Given the description of an element on the screen output the (x, y) to click on. 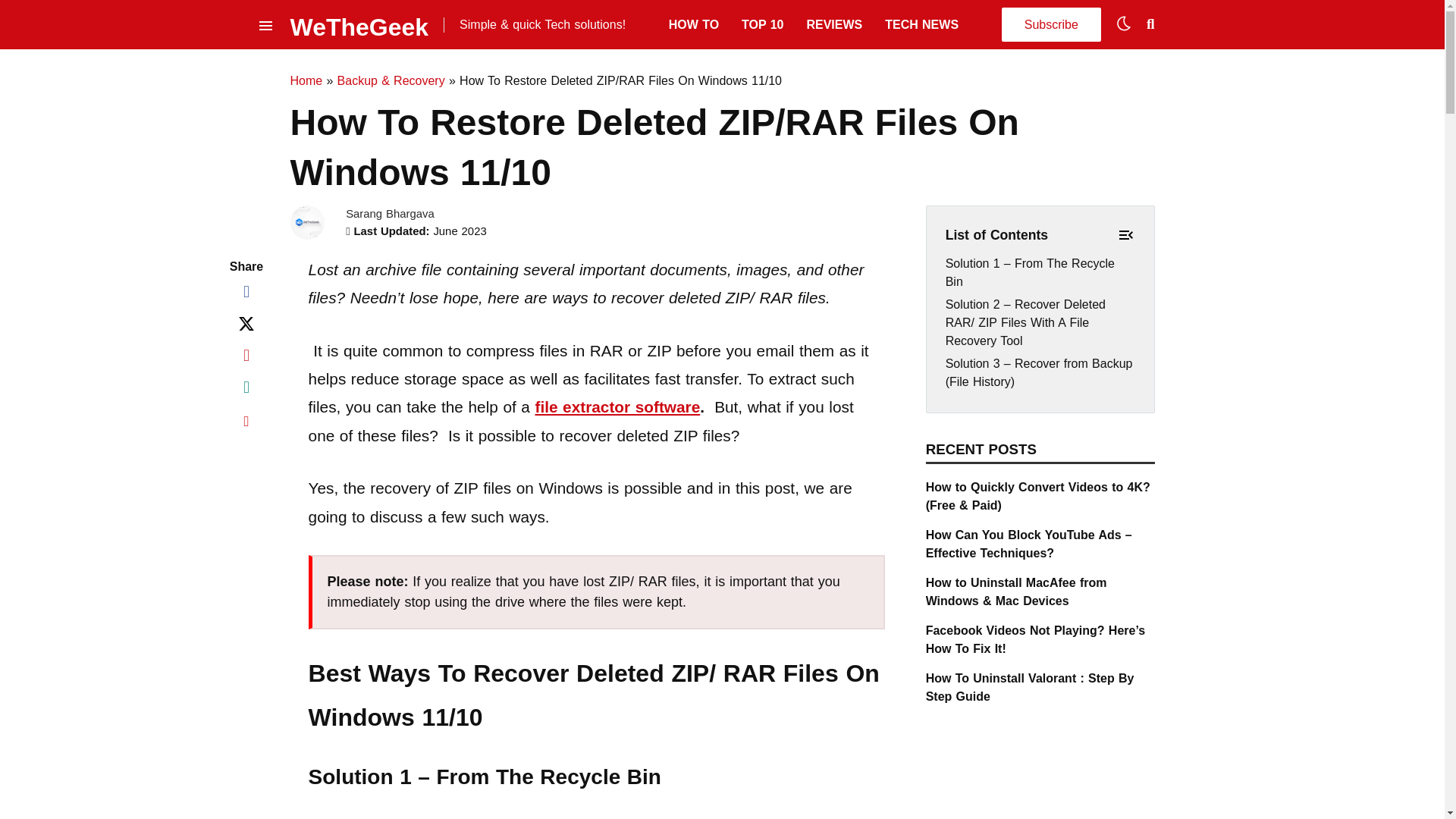
TOP 10 (762, 24)
REVIEWS (833, 24)
HOW TO (693, 24)
WeTheGeek (358, 24)
TECH NEWS (921, 24)
Sarang Bhargava (389, 214)
Home (305, 80)
